Given the description of an element on the screen output the (x, y) to click on. 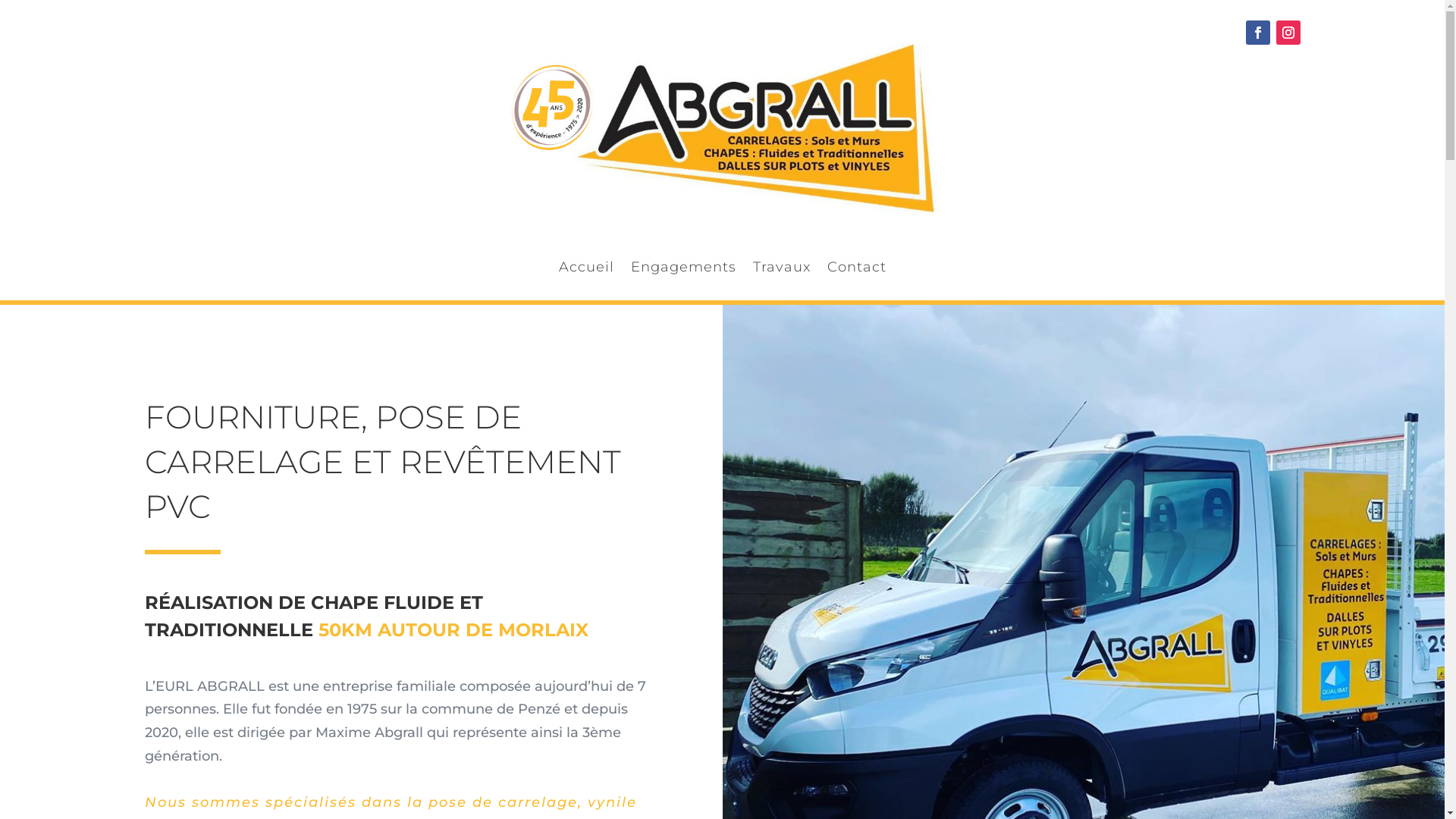
Suivez sur Instagram Element type: hover (1287, 32)
logo_abgrall_experiences Element type: hover (721, 130)
Travaux Element type: text (780, 270)
Contact Element type: text (855, 270)
Suivez sur Facebook Element type: hover (1257, 32)
Accueil Element type: text (585, 270)
Engagements Element type: text (683, 270)
